Given the description of an element on the screen output the (x, y) to click on. 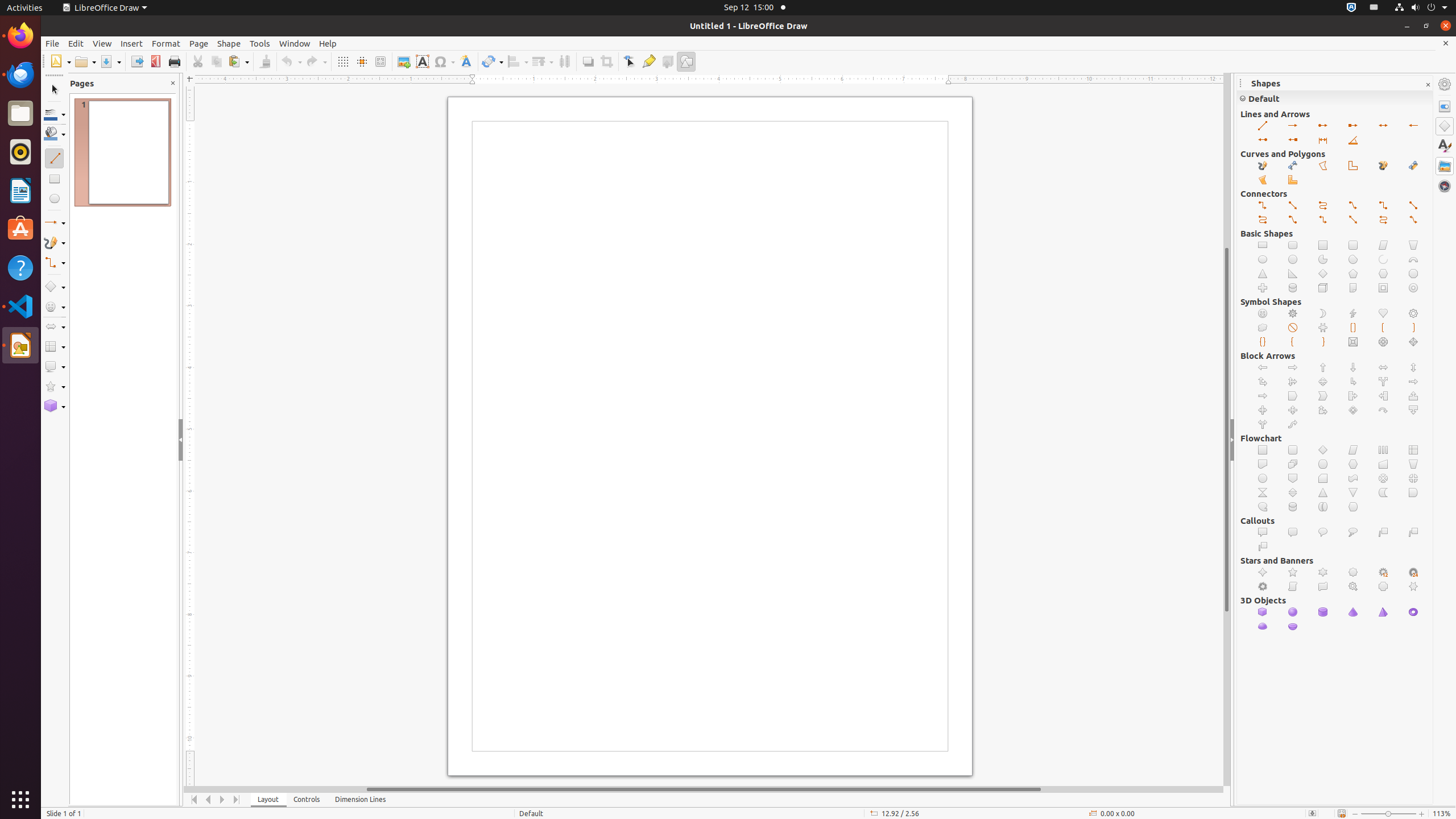
Line with Square/Arrow Element type: list-item (1353, 125)
12-Point Star Element type: list-item (1383, 572)
Chevron Element type: list-item (1323, 396)
Pyramid Element type: list-item (1383, 612)
Flowchart: Preparation Element type: list-item (1353, 464)
